Given the description of an element on the screen output the (x, y) to click on. 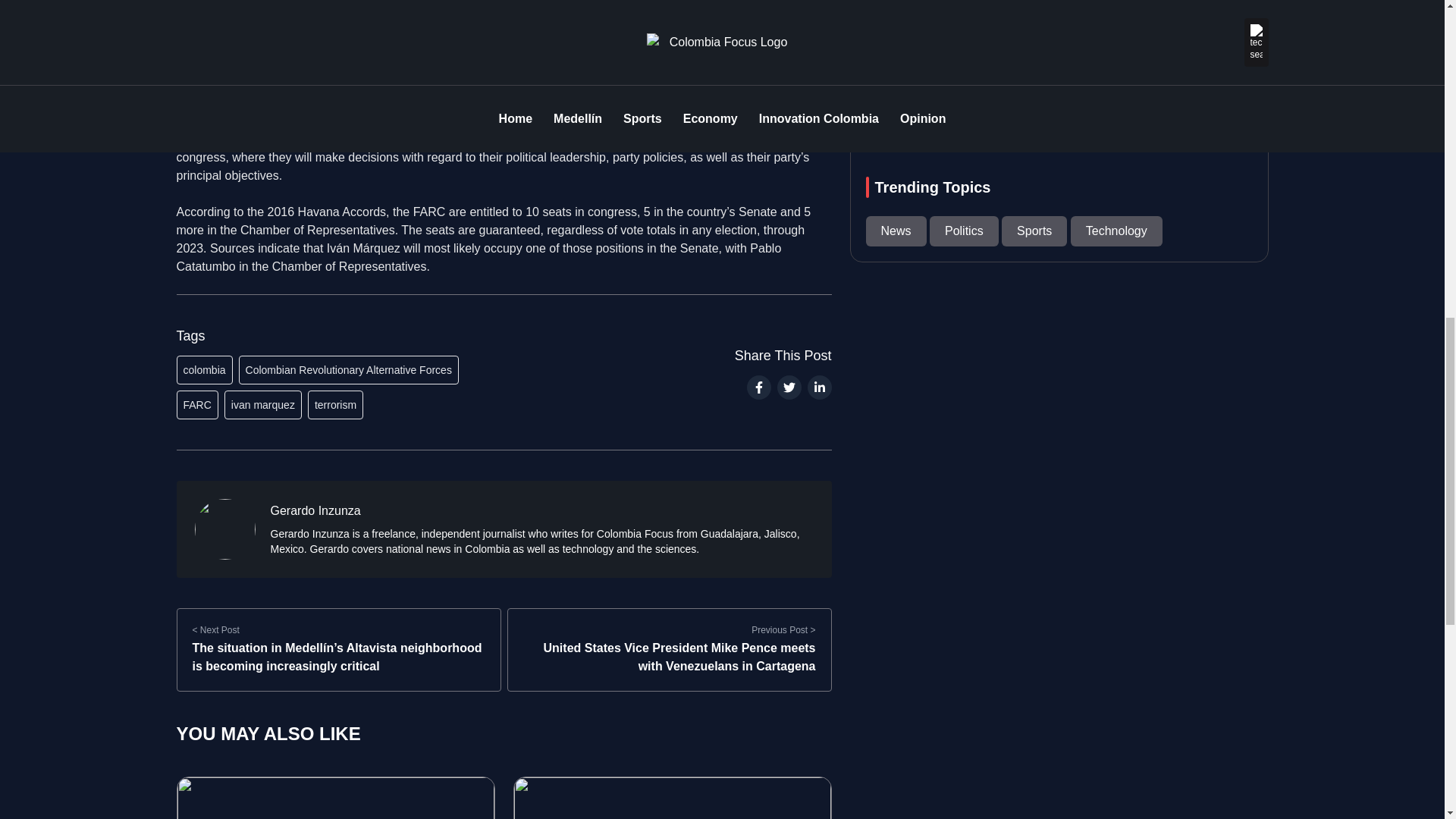
terrorism (334, 404)
colombia (203, 369)
FARC (196, 404)
ivan marquez (262, 404)
Colombian Revolutionary Alternative Forces (348, 369)
